Given the description of an element on the screen output the (x, y) to click on. 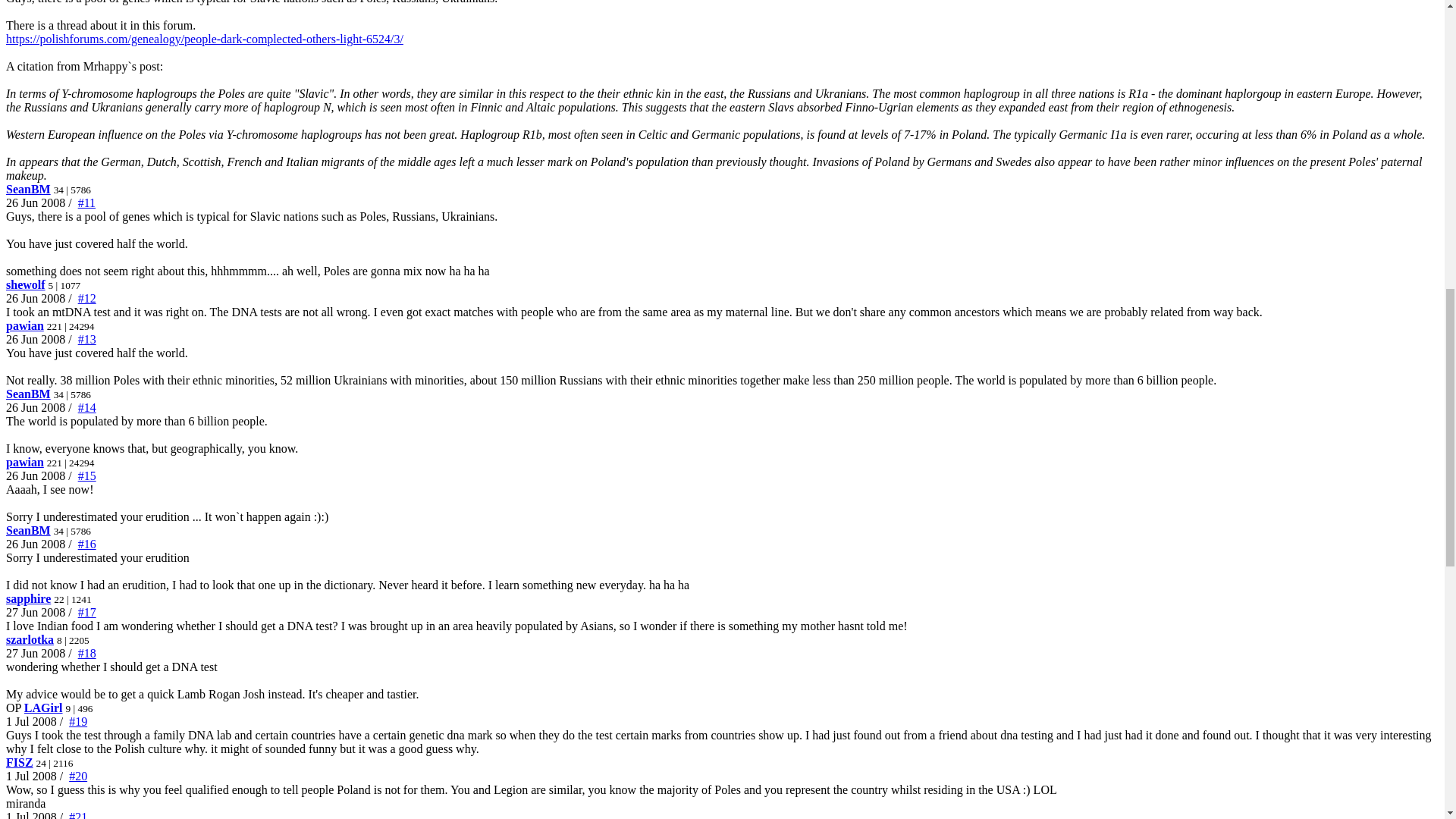
SeanBM (27, 188)
pawian (24, 461)
shewolf (25, 284)
SeanBM (27, 530)
pawian (24, 325)
SeanBM (27, 393)
